Given the description of an element on the screen output the (x, y) to click on. 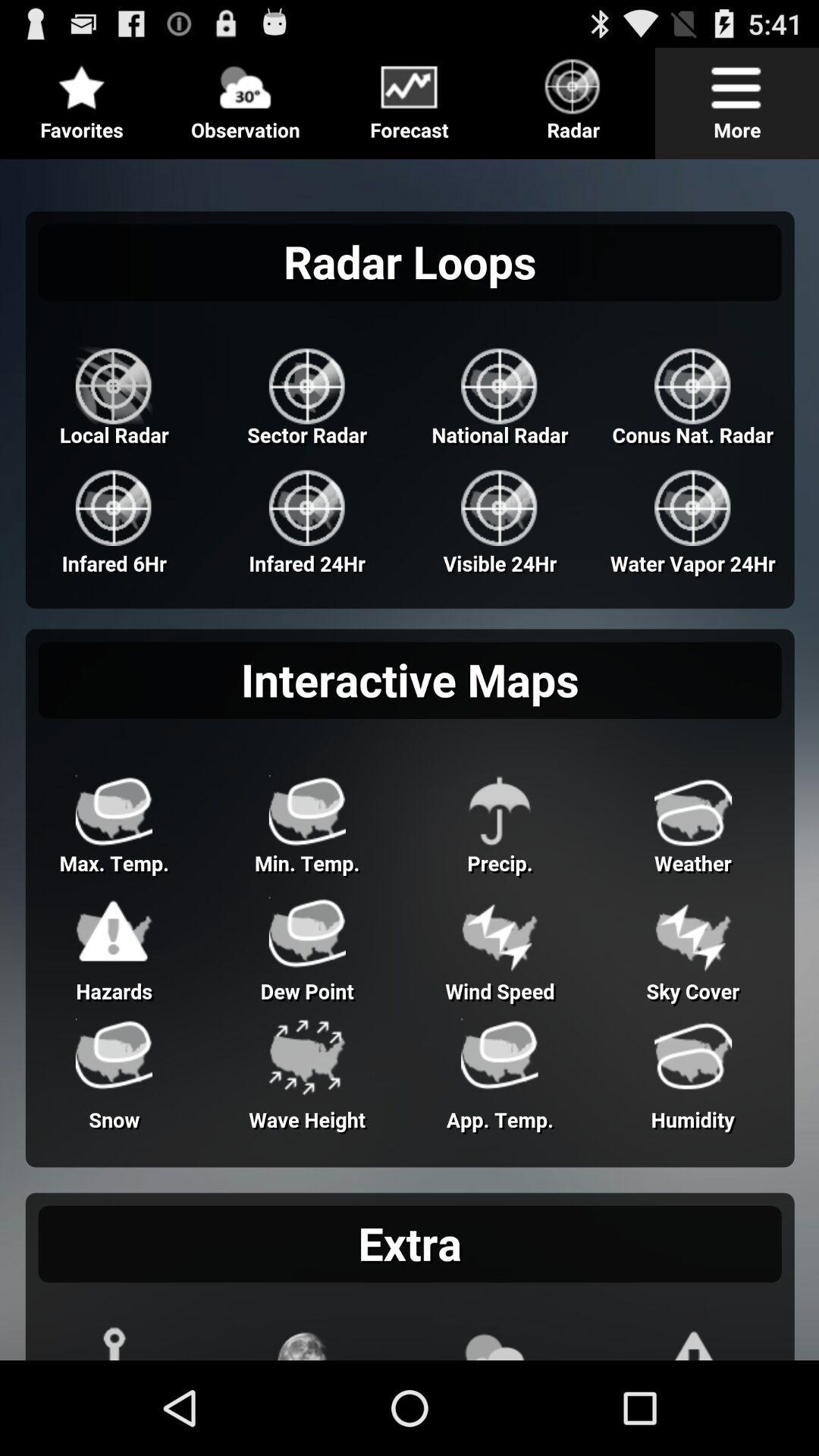
adventisment page (409, 753)
